Given the description of an element on the screen output the (x, y) to click on. 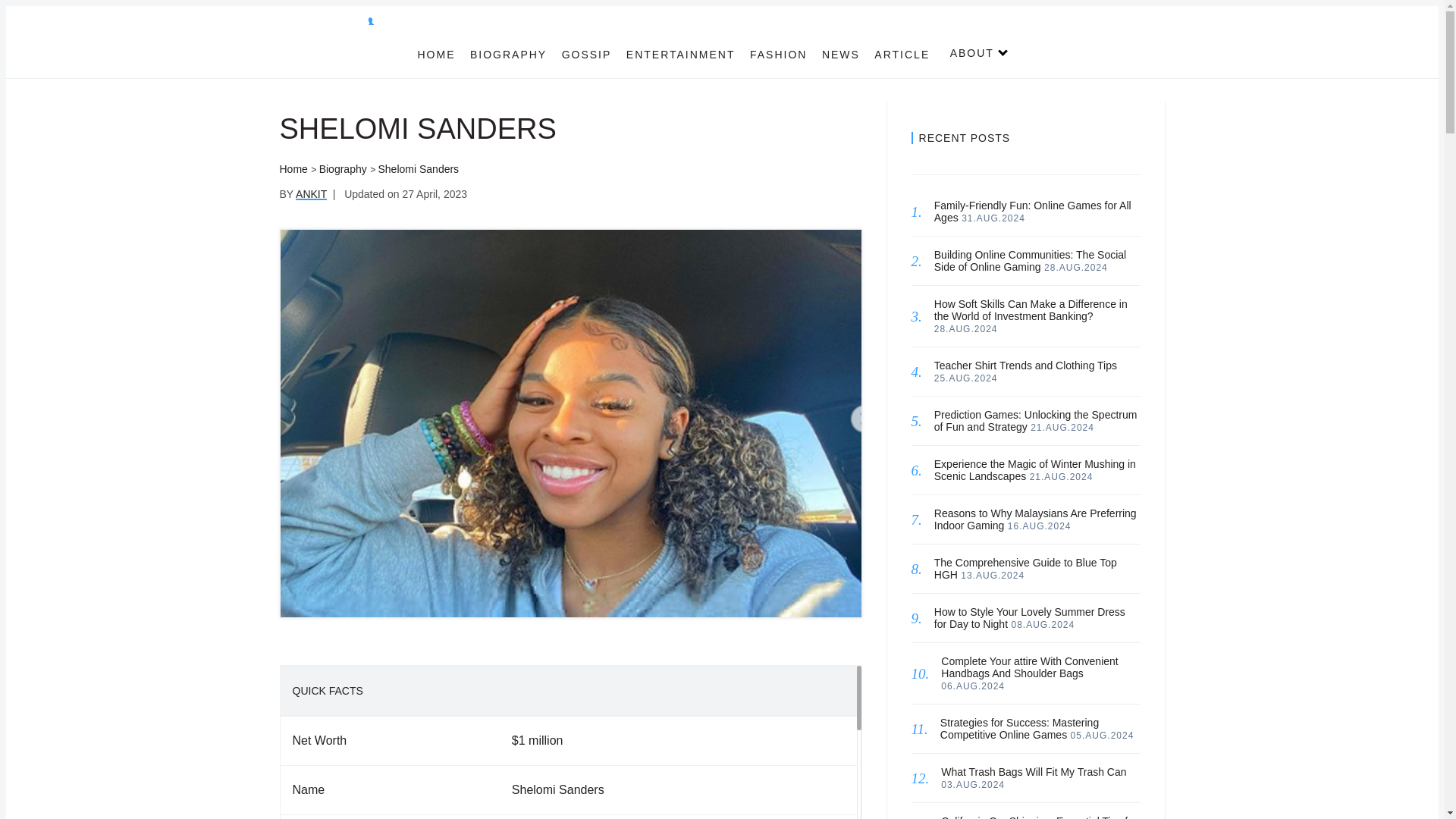
ABOUT (972, 52)
FASHION (777, 54)
Home (293, 168)
06 August 2024 (972, 685)
HOME (435, 54)
21 August 2024 (1061, 476)
13 August 2024 (992, 575)
GOSSIP (586, 54)
NEWS (841, 54)
28 August 2024 (1075, 267)
